Given the description of an element on the screen output the (x, y) to click on. 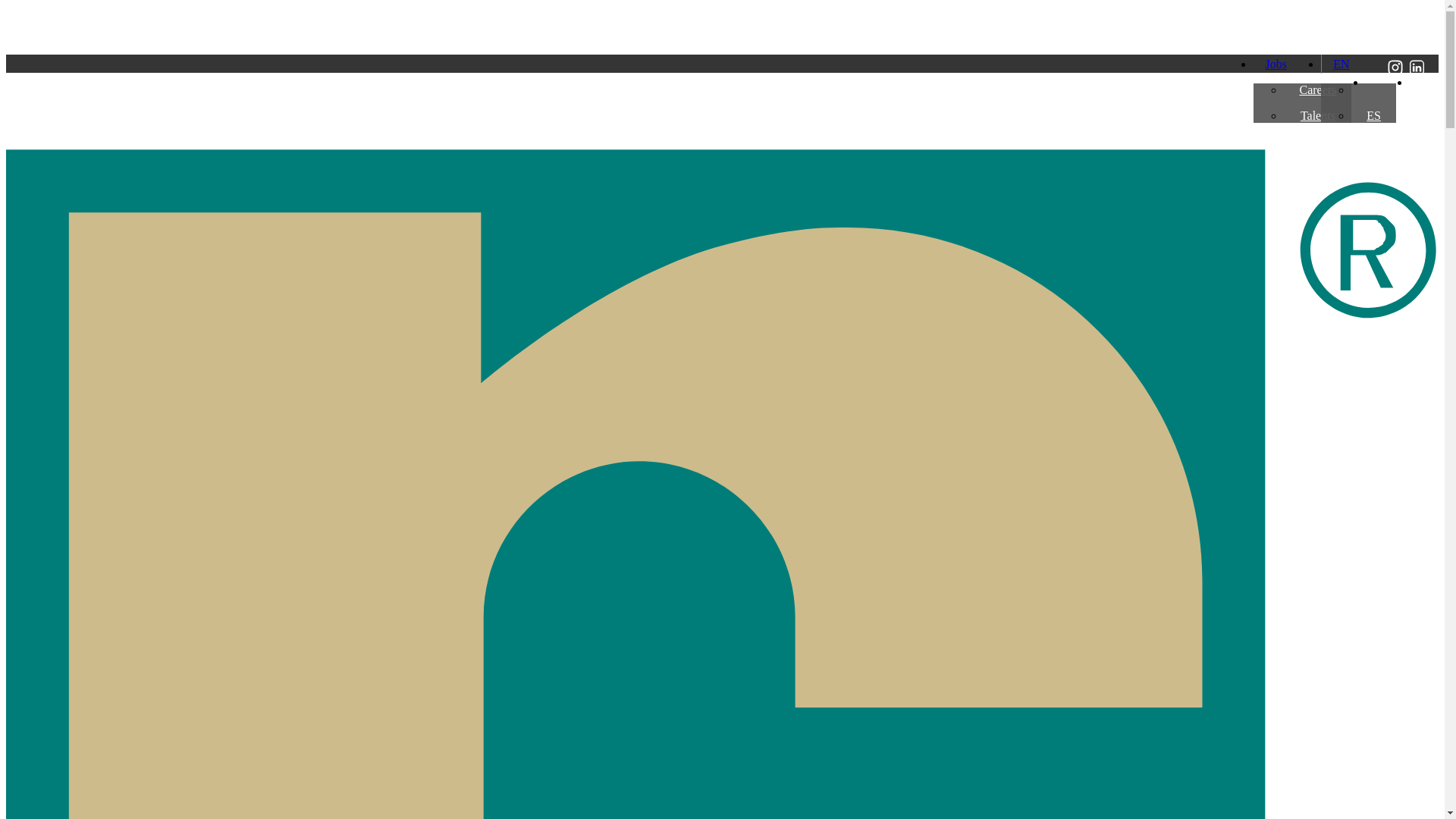
Talents (1317, 115)
ES (1373, 115)
Instagram (1394, 71)
Jobs (1269, 63)
Instagram (1394, 82)
Careers (1317, 89)
EN (1334, 63)
